Given the description of an element on the screen output the (x, y) to click on. 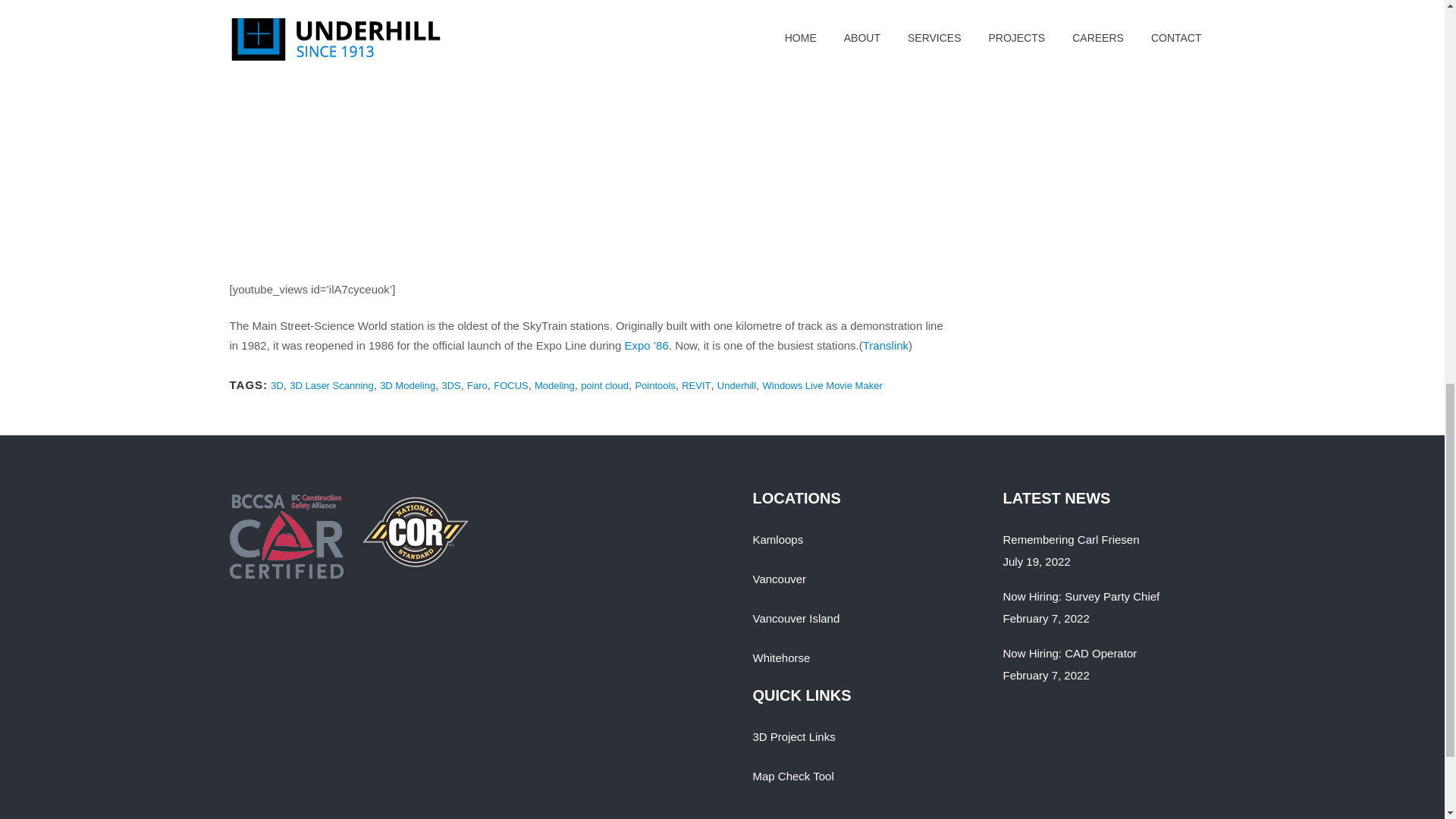
Expo '86 (646, 345)
